Given the description of an element on the screen output the (x, y) to click on. 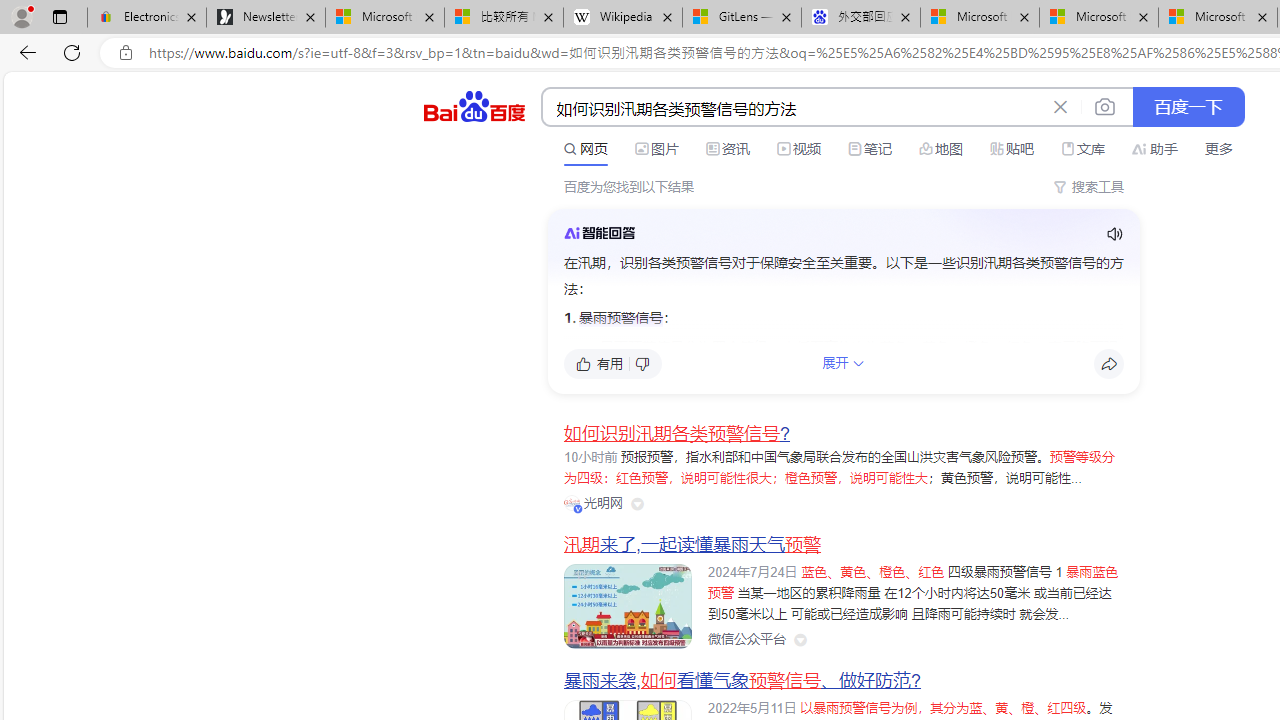
Newsletter Sign Up (266, 17)
AutomationID: kw (793, 107)
Class: img-light_7jMUg (599, 232)
